Given the description of an element on the screen output the (x, y) to click on. 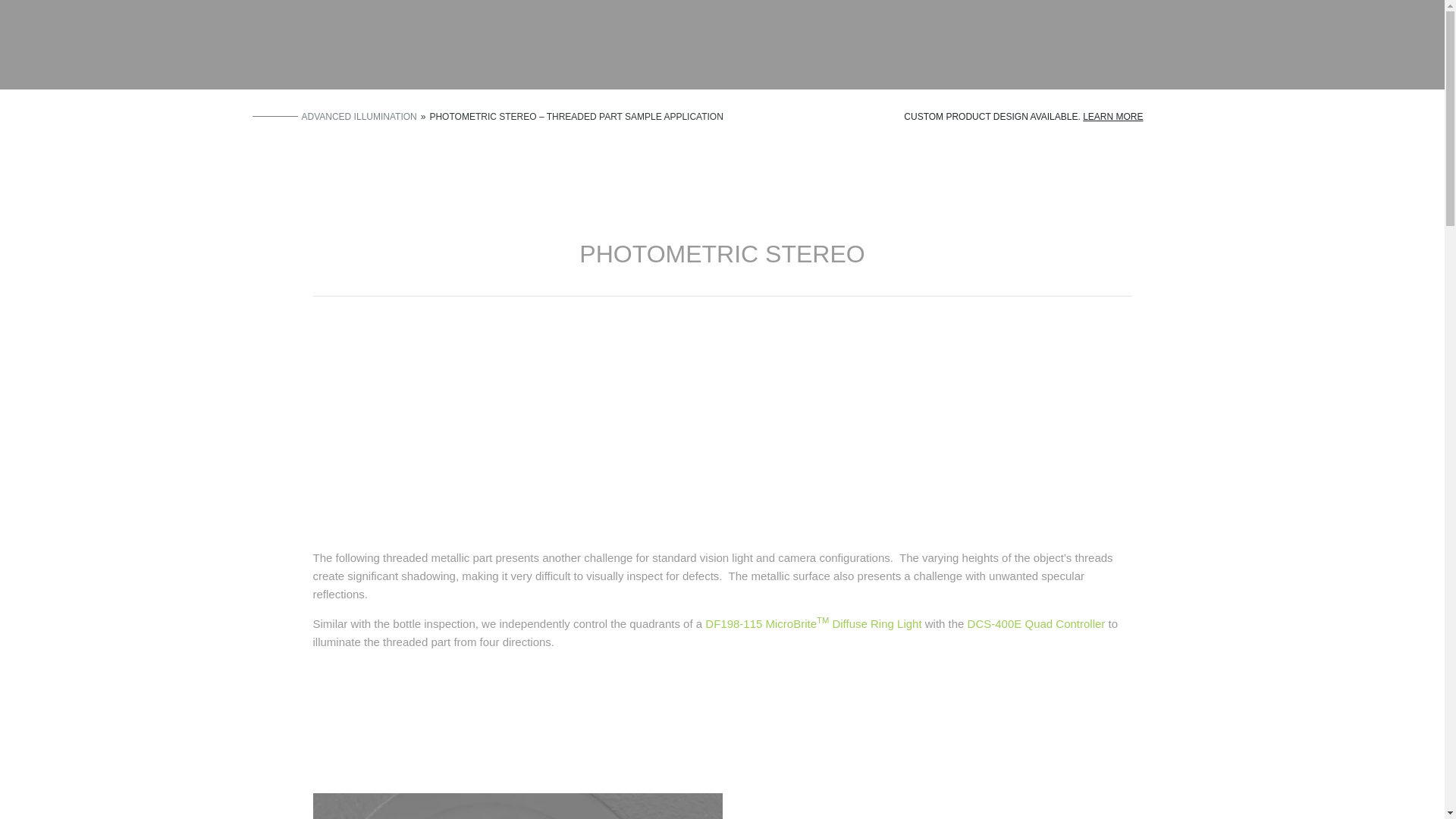
Go to Advanced Illumination. (358, 116)
